Given the description of an element on the screen output the (x, y) to click on. 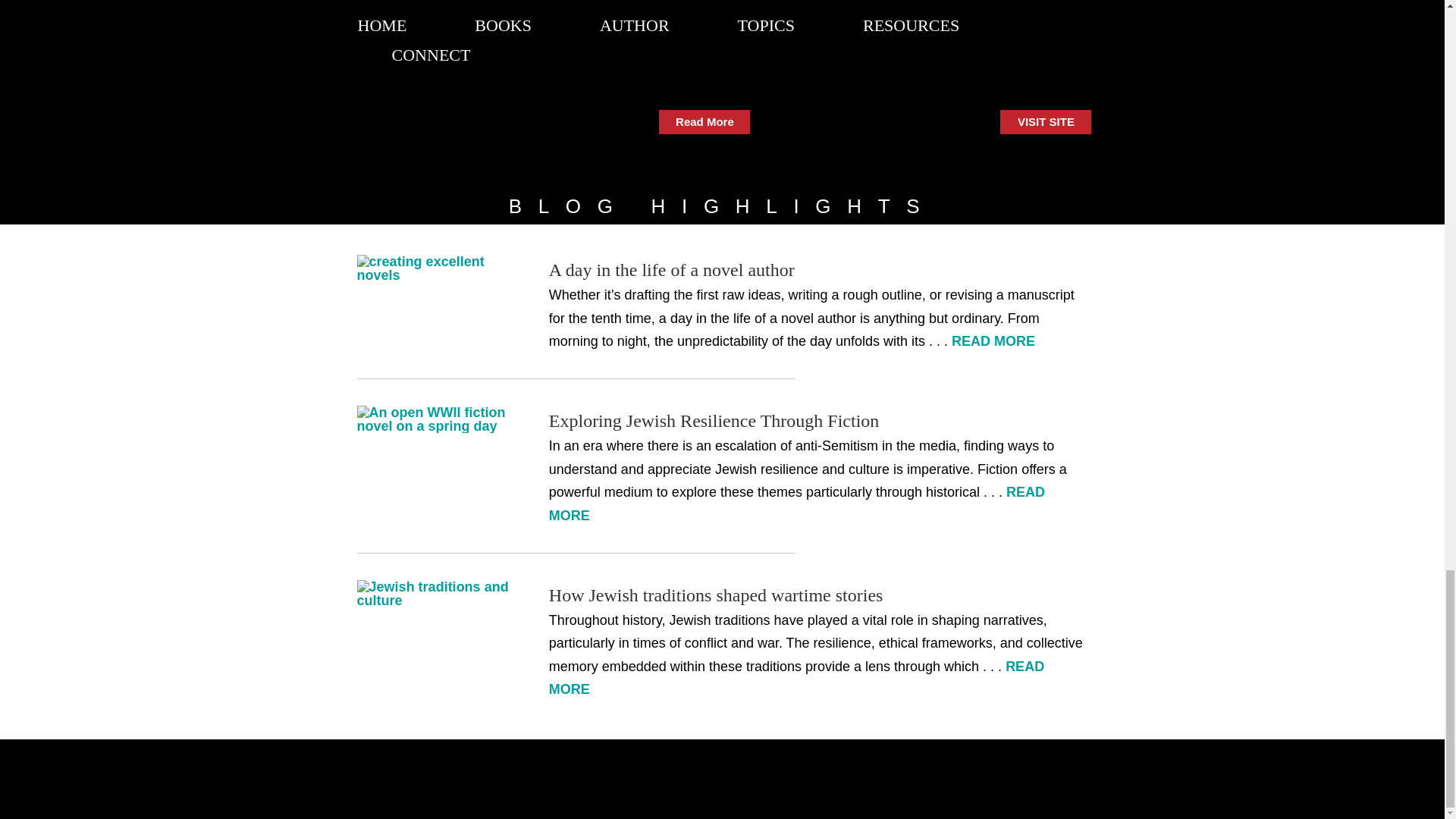
Exploring Jewish Resilience Through Fiction (434, 419)
How Jewish traditions shaped wartime stories (434, 593)
A day in the life of a novel author (671, 270)
How Jewish traditions shaped wartime stories (715, 595)
VISIT SITE (1045, 121)
A day in the life of a novel author (434, 267)
Read More (704, 121)
Exploring Jewish Resilience Through Fiction (713, 420)
